Given the description of an element on the screen output the (x, y) to click on. 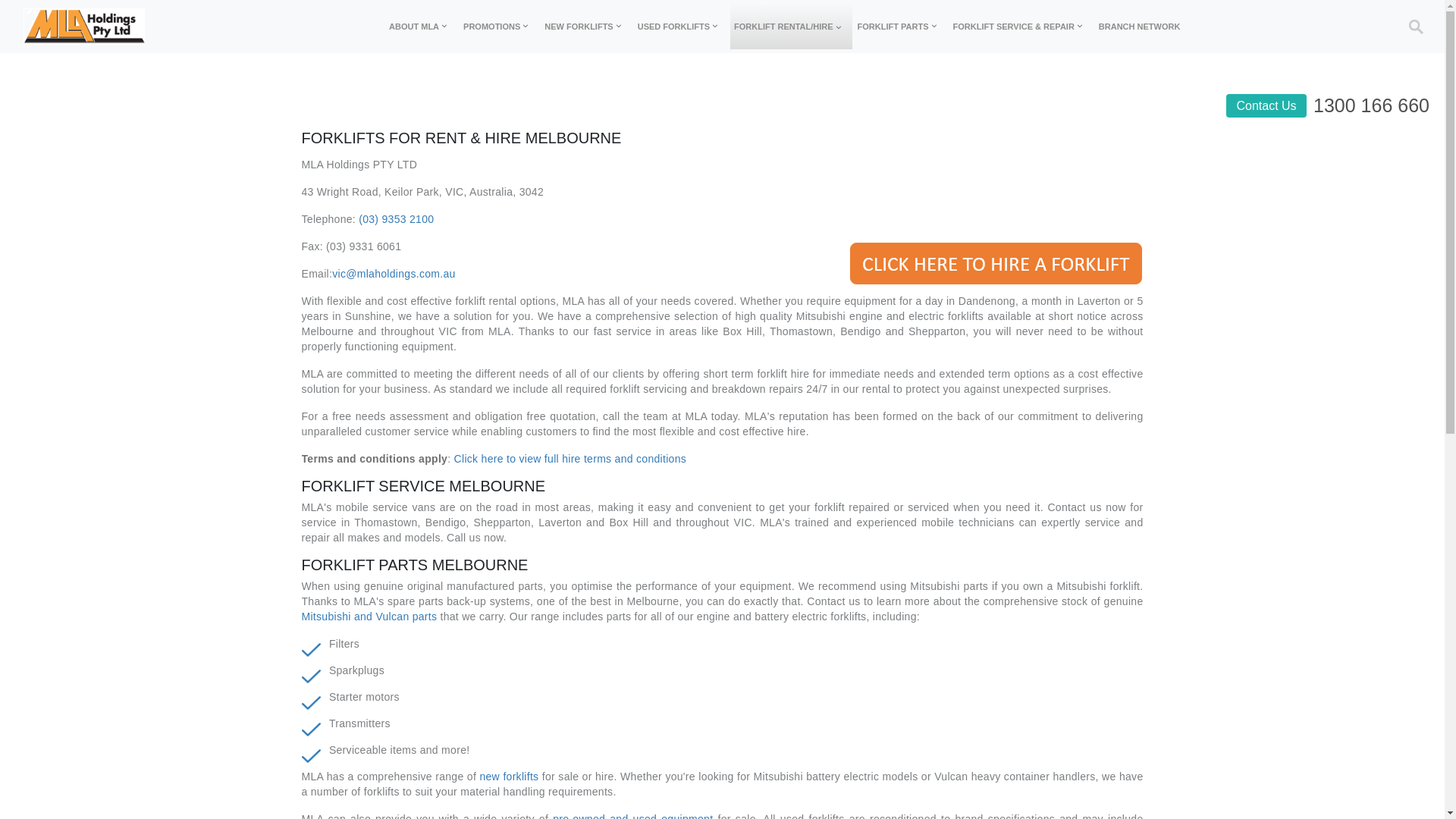
new forklifts Element type: text (507, 776)
FORKLIFT SERVICE & REPAIR Element type: text (1020, 26)
Mitsubishi and Vulcan parts Element type: text (369, 616)
(03) 9353 2100 Element type: text (395, 219)
USED FORKLIFTS Element type: text (681, 26)
NEW FORKLIFTS Element type: text (585, 26)
Reset Element type: text (6, 2)
BRANCH NETWORK Element type: text (1139, 26)
ABOUT MLA Element type: text (421, 26)
FORKLIFT PARTS Element type: text (900, 26)
FORKLIFT RENTAL/HIRE Element type: text (791, 26)
  Element type: text (145, 26)
1300 166 660 Element type: text (1371, 105)
Click here to view full hire terms and conditions Element type: text (570, 458)
vic@mlaholdings.com.au Element type: text (393, 273)
PROMOTIONS Element type: text (498, 26)
Contact Us Element type: text (1265, 105)
